Given the description of an element on the screen output the (x, y) to click on. 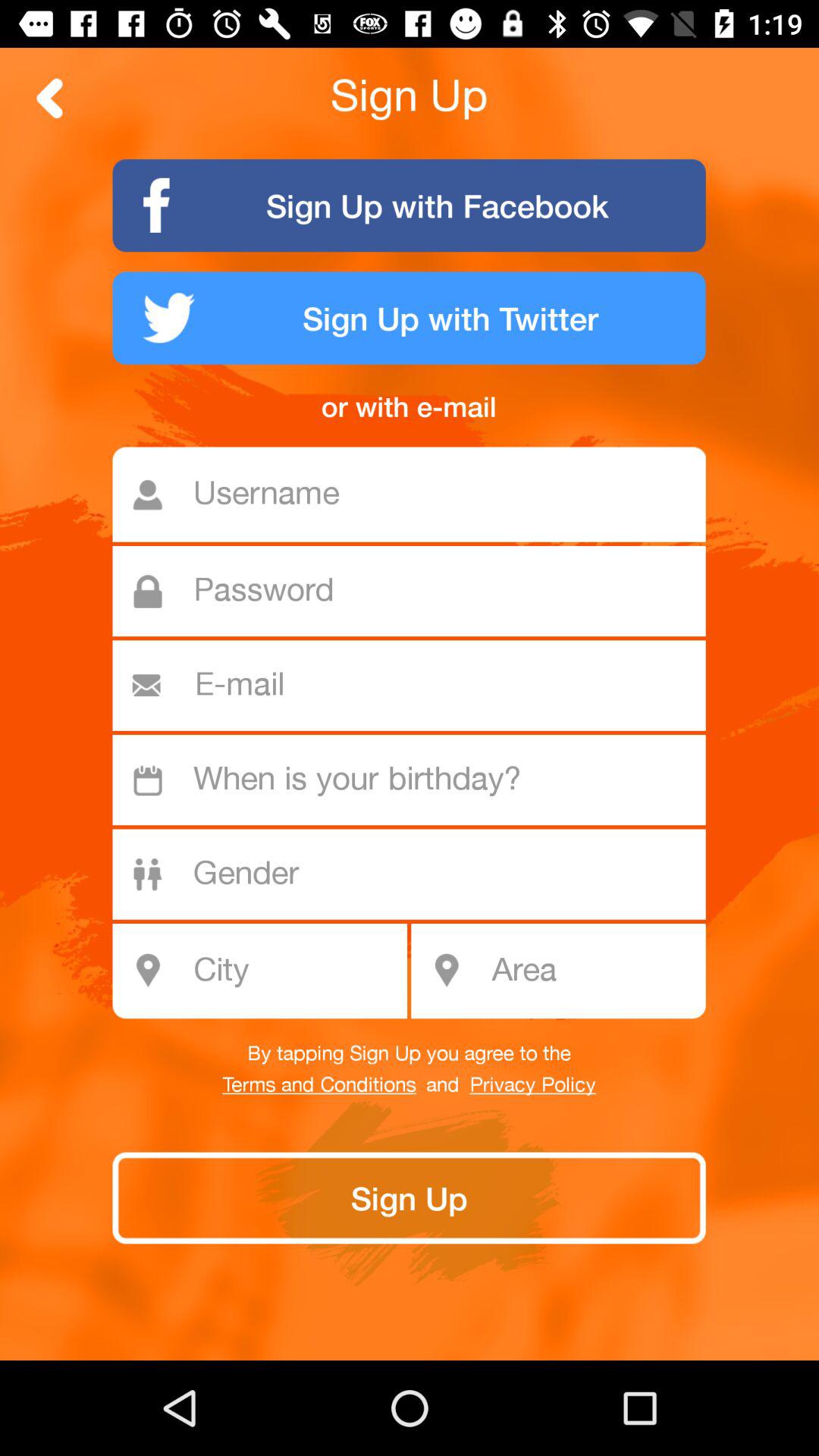
fill in the birth day option (417, 779)
